Given the description of an element on the screen output the (x, y) to click on. 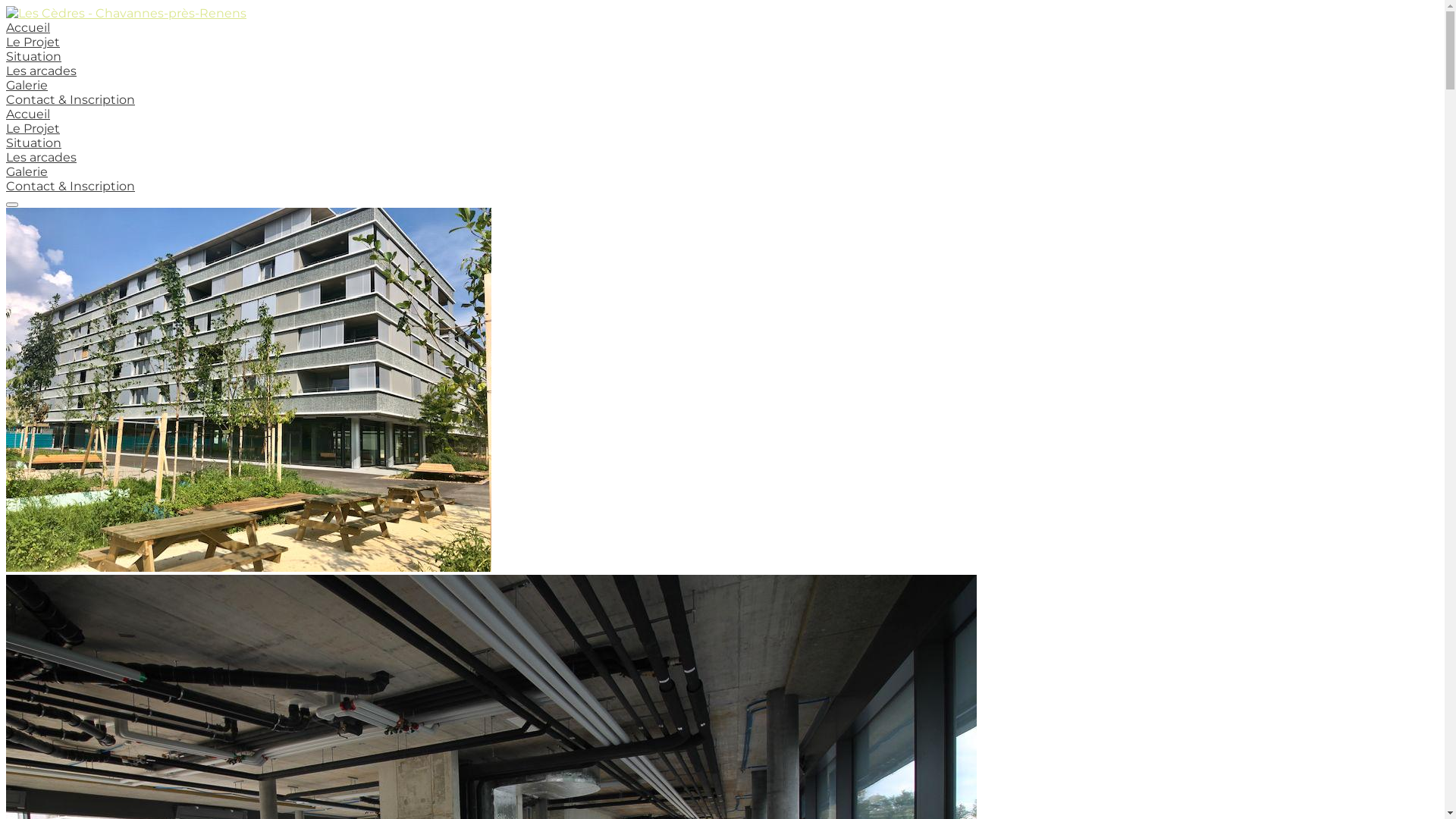
Galerie Element type: text (26, 85)
Les arcades Element type: text (41, 70)
Galerie Element type: text (26, 171)
Situation Element type: text (33, 56)
Le Projet Element type: text (32, 128)
Contact & Inscription Element type: text (70, 99)
Contact & Inscription Element type: text (70, 185)
Accueil Element type: text (28, 27)
Situation Element type: text (33, 142)
Les arcades Element type: text (41, 157)
Le Projet Element type: text (32, 41)
Accueil Element type: text (28, 113)
